Given the description of an element on the screen output the (x, y) to click on. 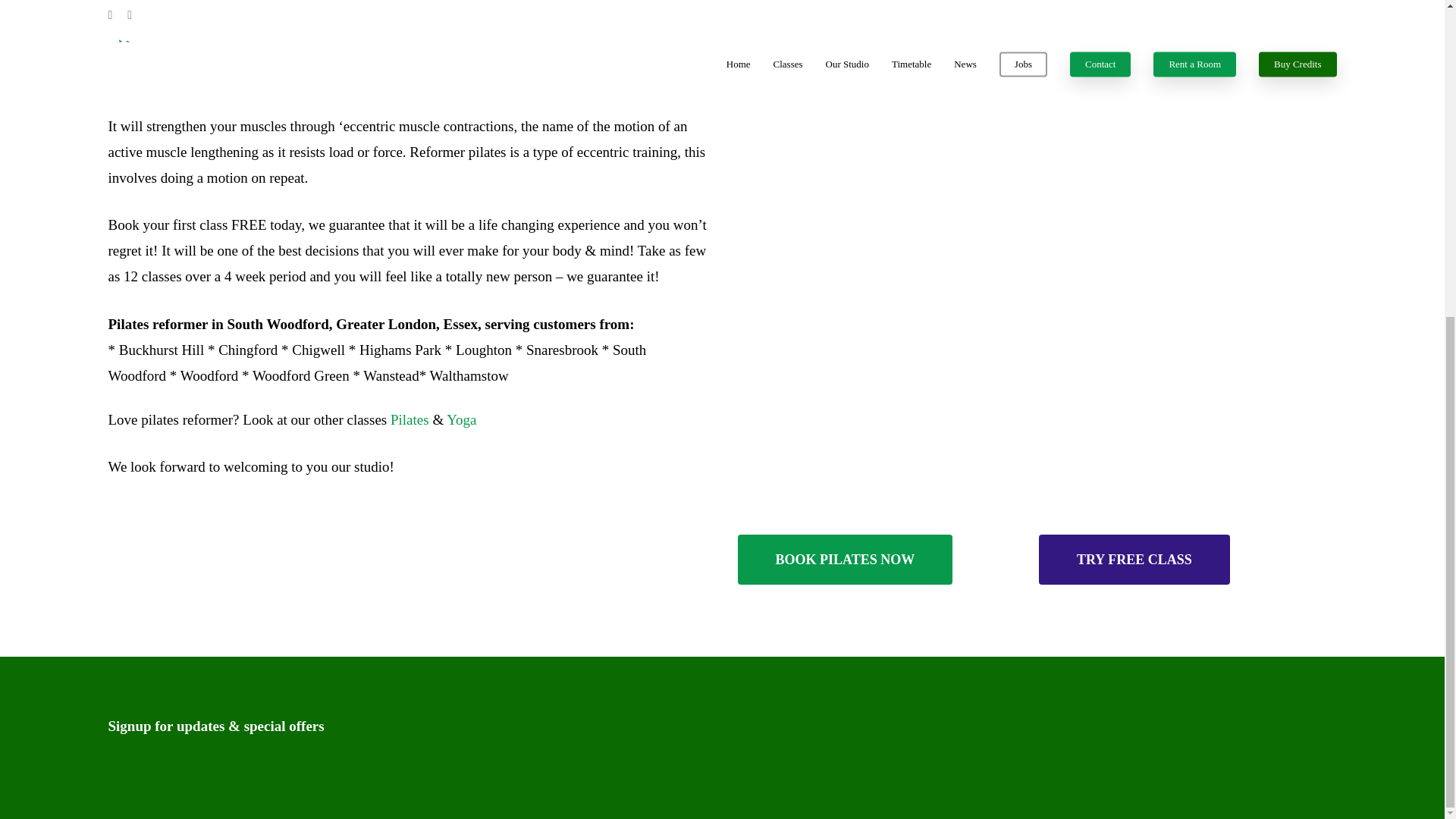
BOOK PILATES NOW (844, 559)
Pilates (409, 419)
TRY FREE CLASS (1134, 559)
Yoga (461, 419)
